Given the description of an element on the screen output the (x, y) to click on. 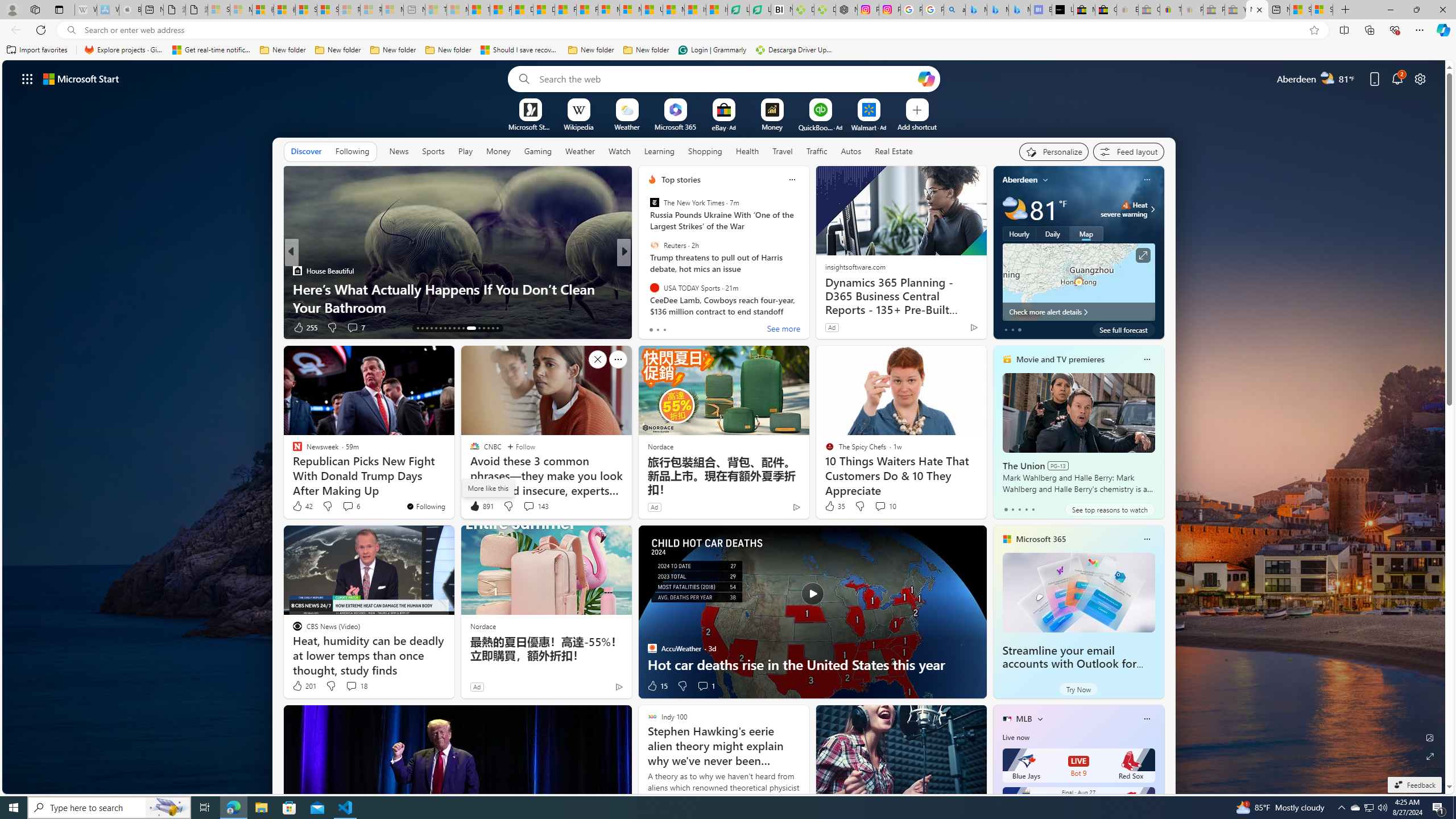
PsychLove (647, 288)
Microsoft Bing Travel - Flights from Hong Kong to Bangkok (975, 9)
See full forecast (1123, 329)
Page settings (1420, 78)
AutomationID: tab-33 (497, 328)
More interests (1039, 718)
MLB (1024, 718)
View comments 7 Comment (702, 327)
Add a site (916, 126)
Top stories (680, 179)
tab-2 (1019, 509)
